Given the description of an element on the screen output the (x, y) to click on. 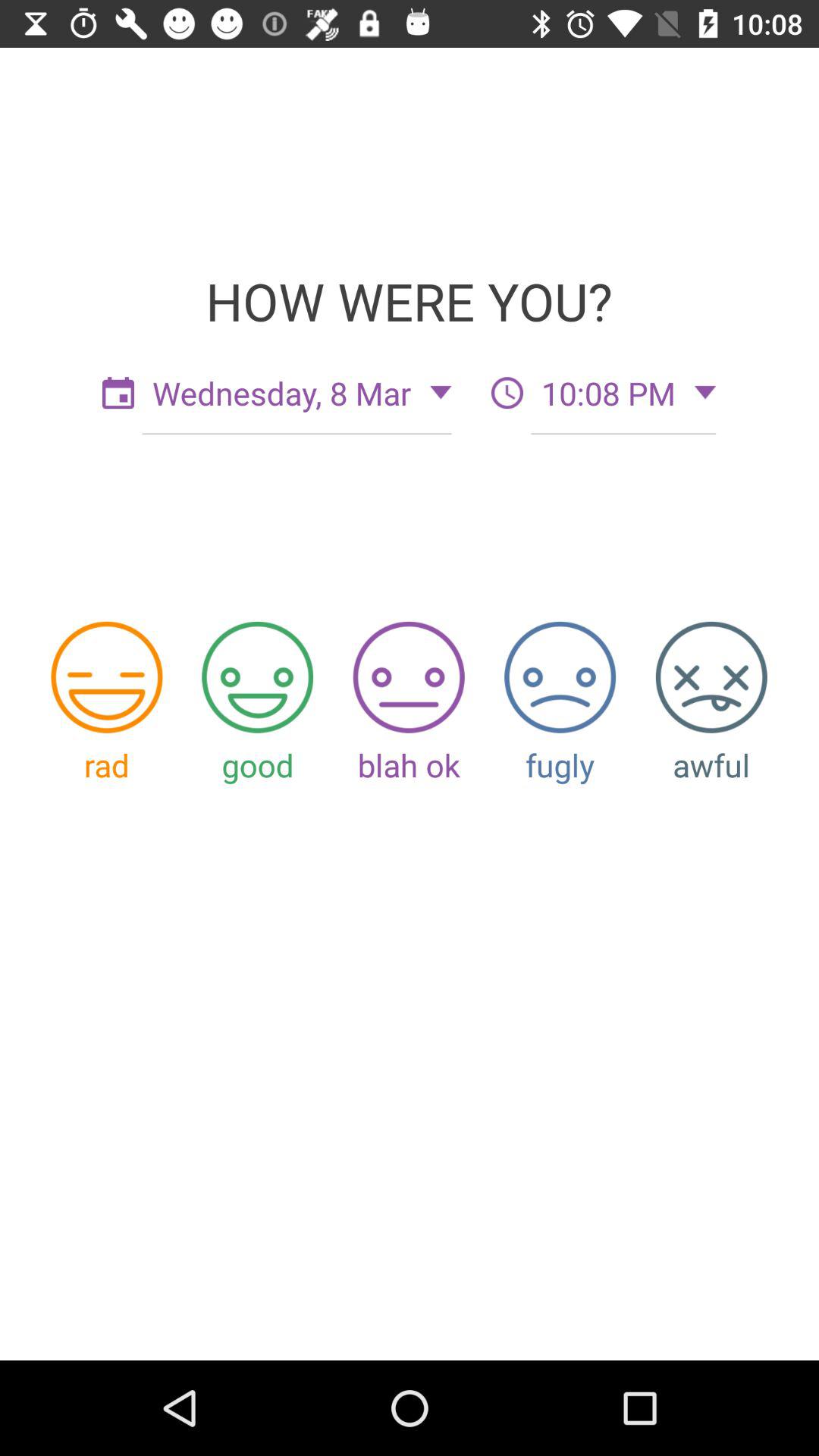
feeling awful (711, 677)
